Given the description of an element on the screen output the (x, y) to click on. 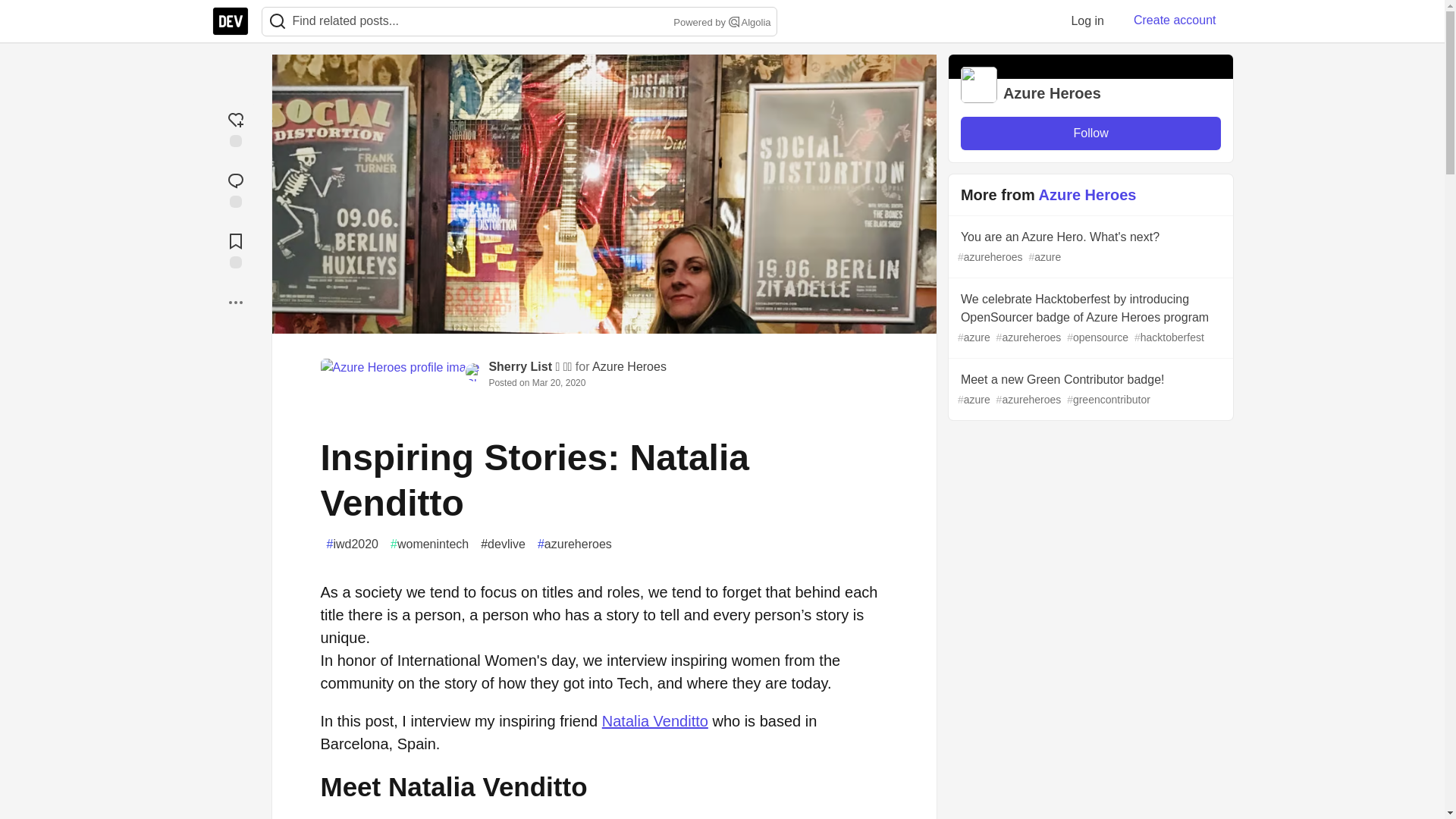
Azure Heroes (629, 366)
More... (234, 302)
Create account (1174, 20)
Search (276, 21)
Natalia Venditto (654, 720)
Search (277, 21)
Log in (1087, 20)
Search (734, 21)
More... (234, 302)
Powered by Search Algolia (720, 22)
